Given the description of an element on the screen output the (x, y) to click on. 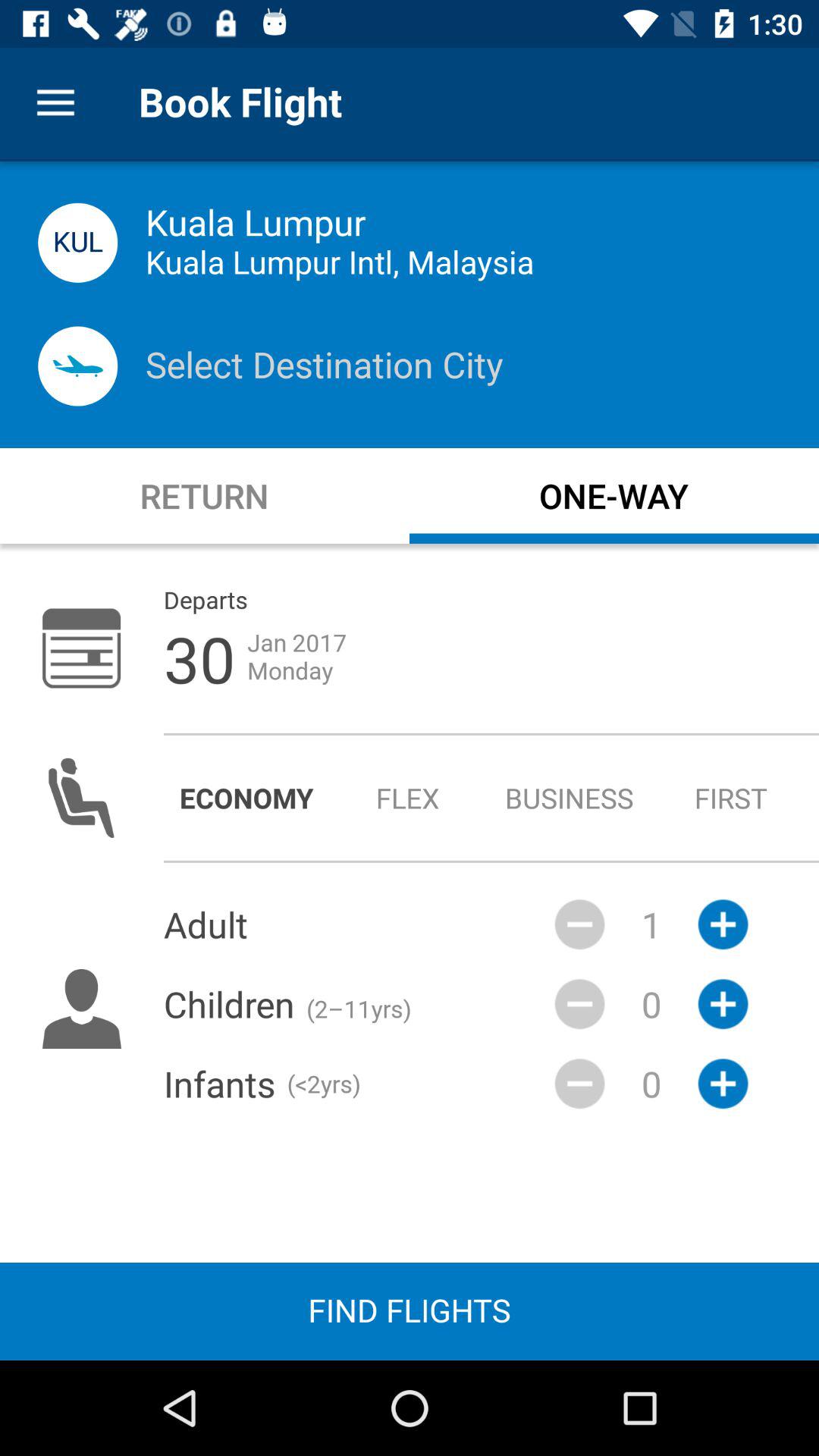
open radio button next to the flex icon (569, 797)
